Given the description of an element on the screen output the (x, y) to click on. 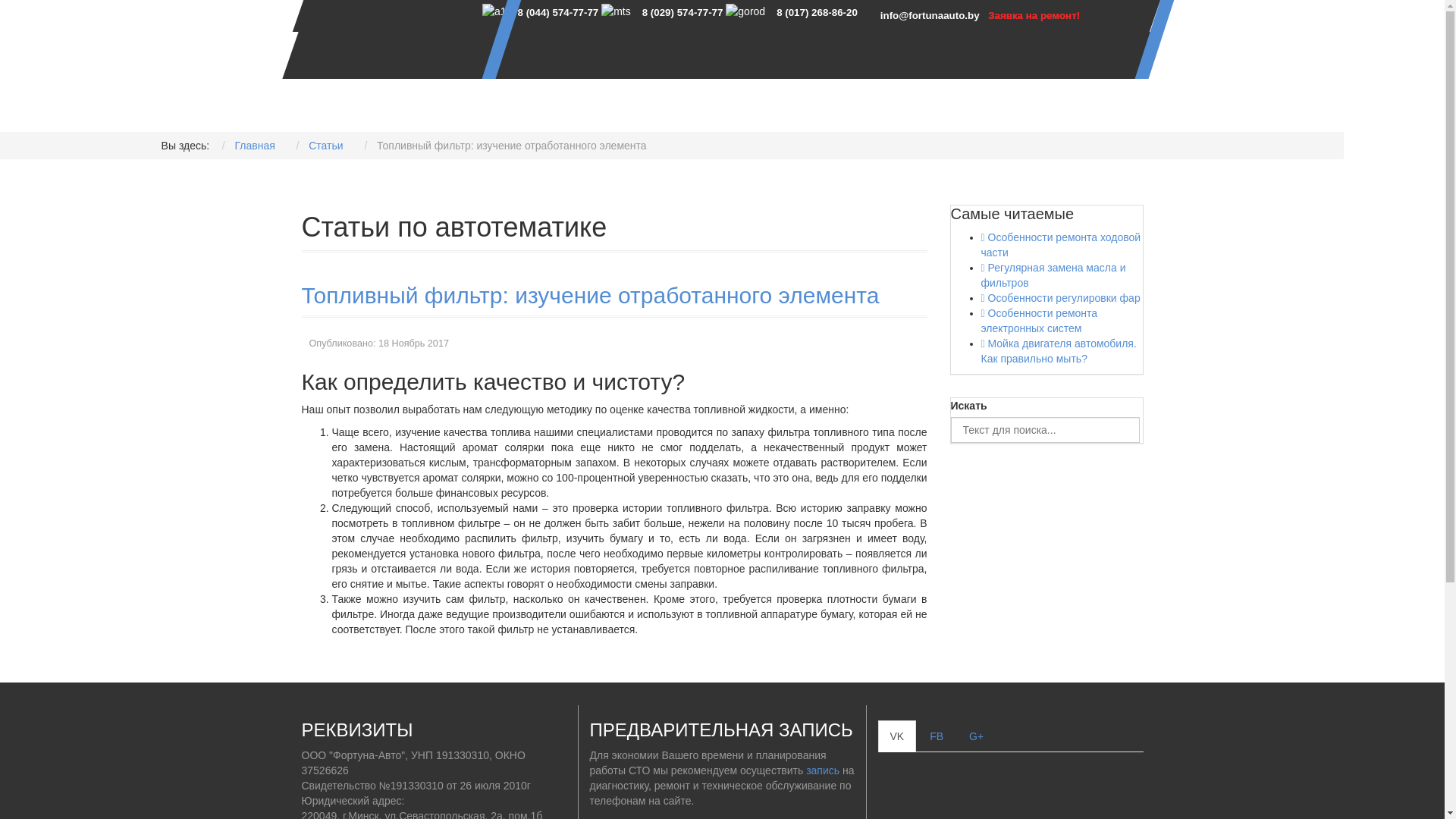
8 (044) 574-77-77 Element type: text (558, 12)
8 (017) 268-86-20 Element type: text (816, 12)
8 (029) 574-77-77 Element type: text (682, 12)
info@fortunaauto.by Element type: text (929, 15)
FB Element type: text (936, 736)
VK Element type: text (897, 736)
G+ Element type: text (976, 736)
